Given the description of an element on the screen output the (x, y) to click on. 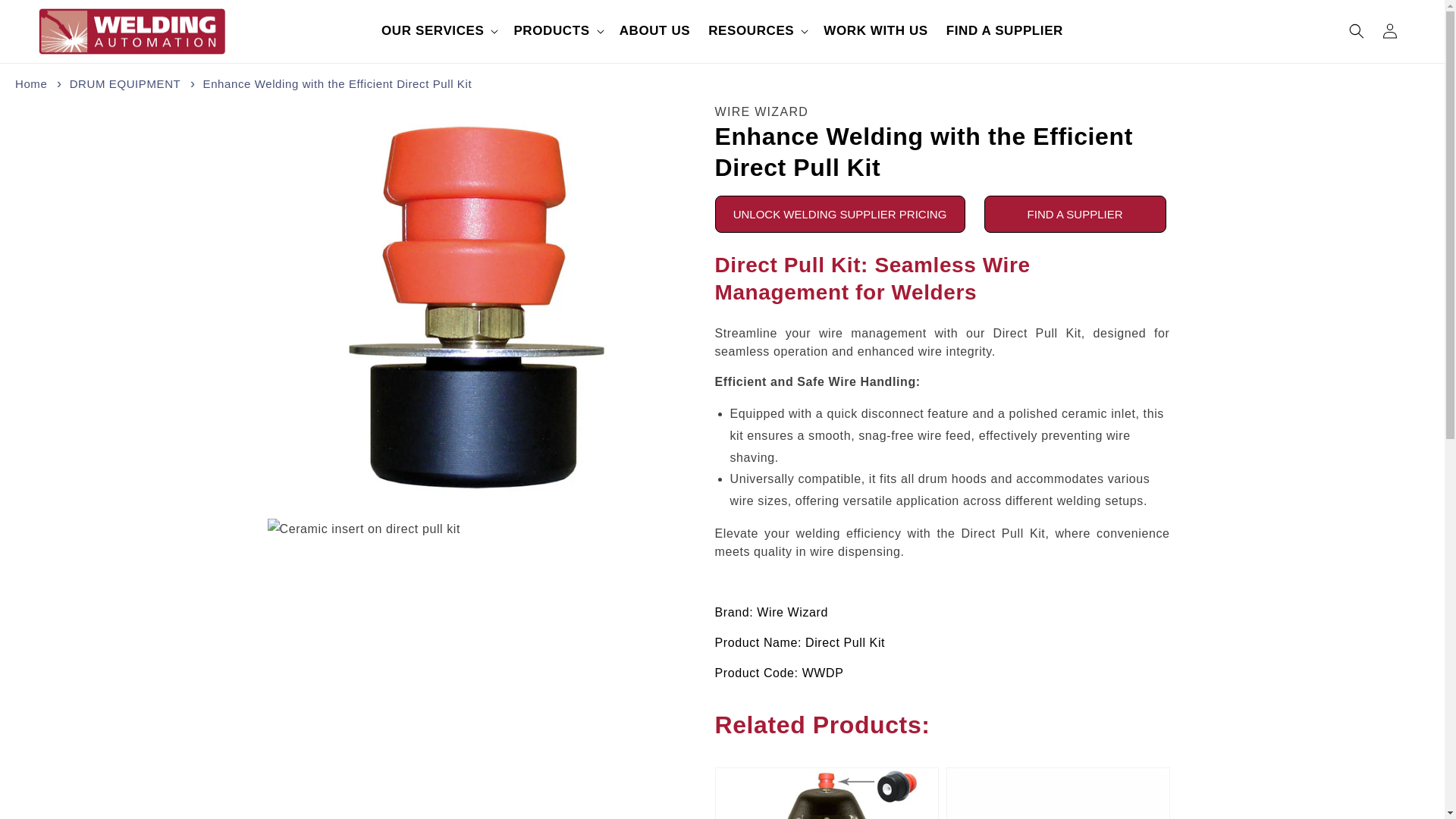
Skip to content (45, 17)
DRUM EQUIPMENT (124, 83)
Home (30, 83)
